Given the description of an element on the screen output the (x, y) to click on. 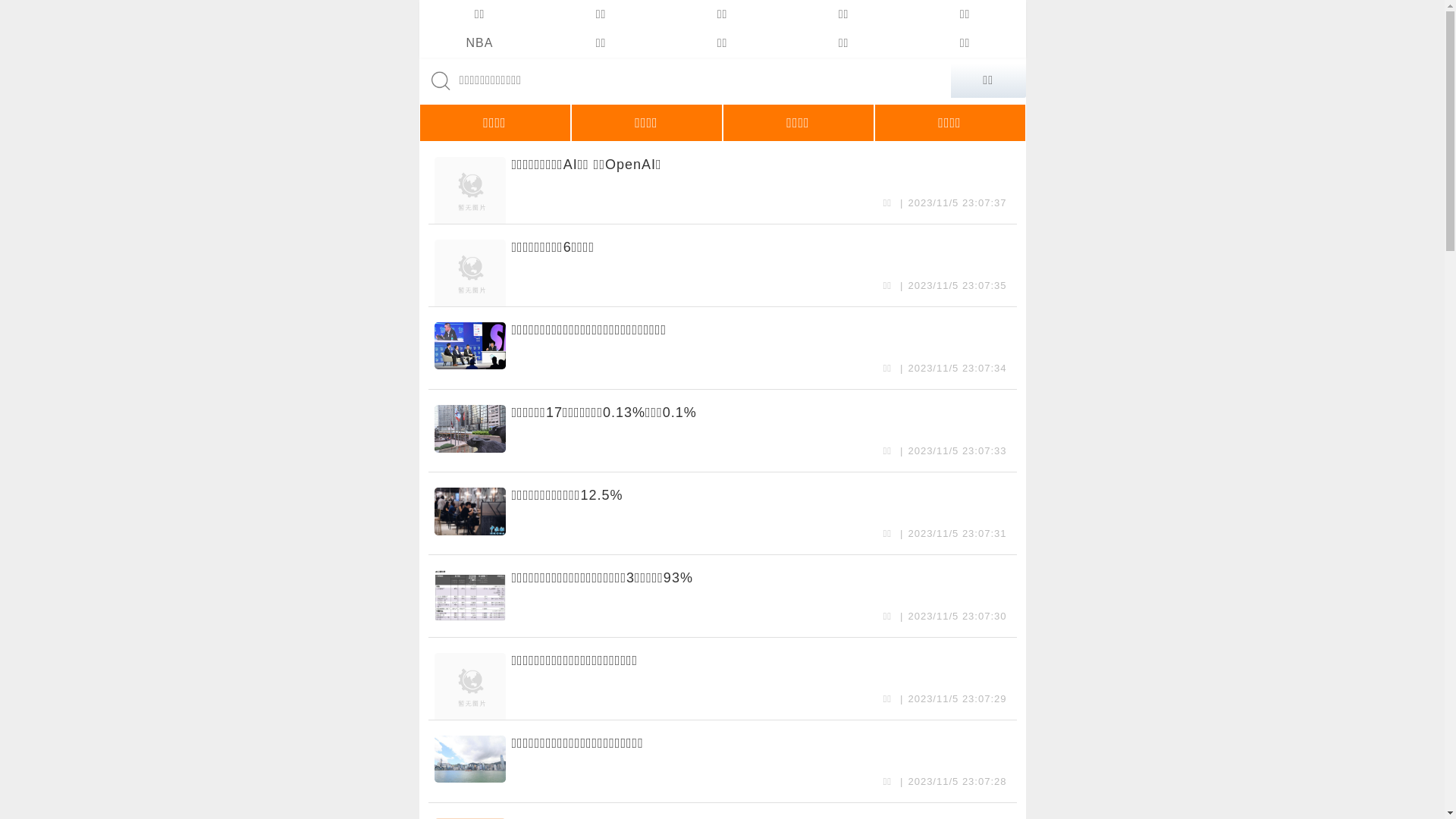
NBA Element type: text (478, 42)
